Given the description of an element on the screen output the (x, y) to click on. 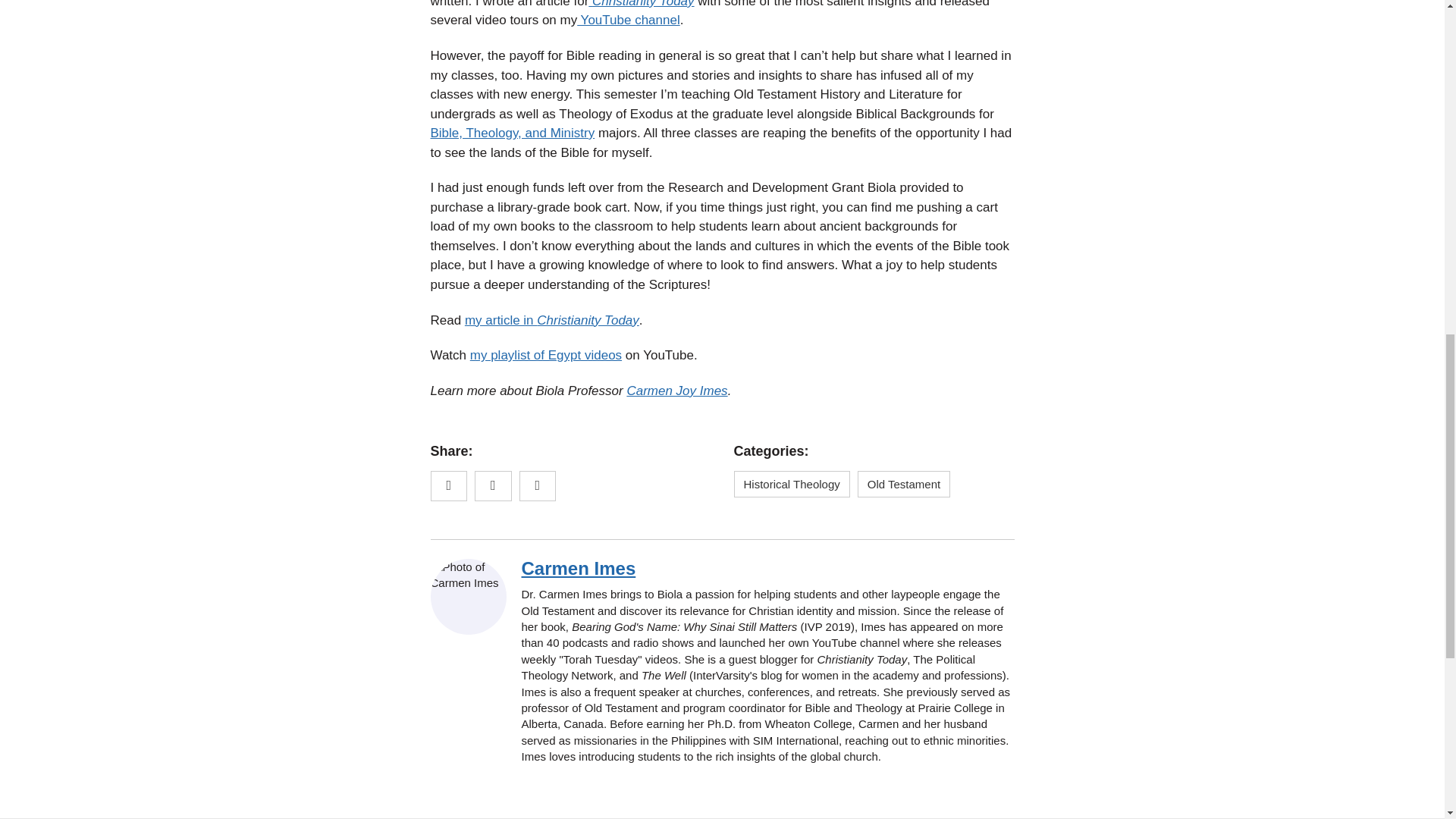
Carmen Imes (578, 567)
Carmen Joy Imes (676, 391)
Bible, Theology, and Ministry (512, 133)
my playlist of Egypt videos (545, 355)
Christianity Today (641, 4)
my article in Christianity Today (551, 319)
Old Testament (903, 483)
Historical Theology (791, 483)
YouTube channel (627, 20)
